Given the description of an element on the screen output the (x, y) to click on. 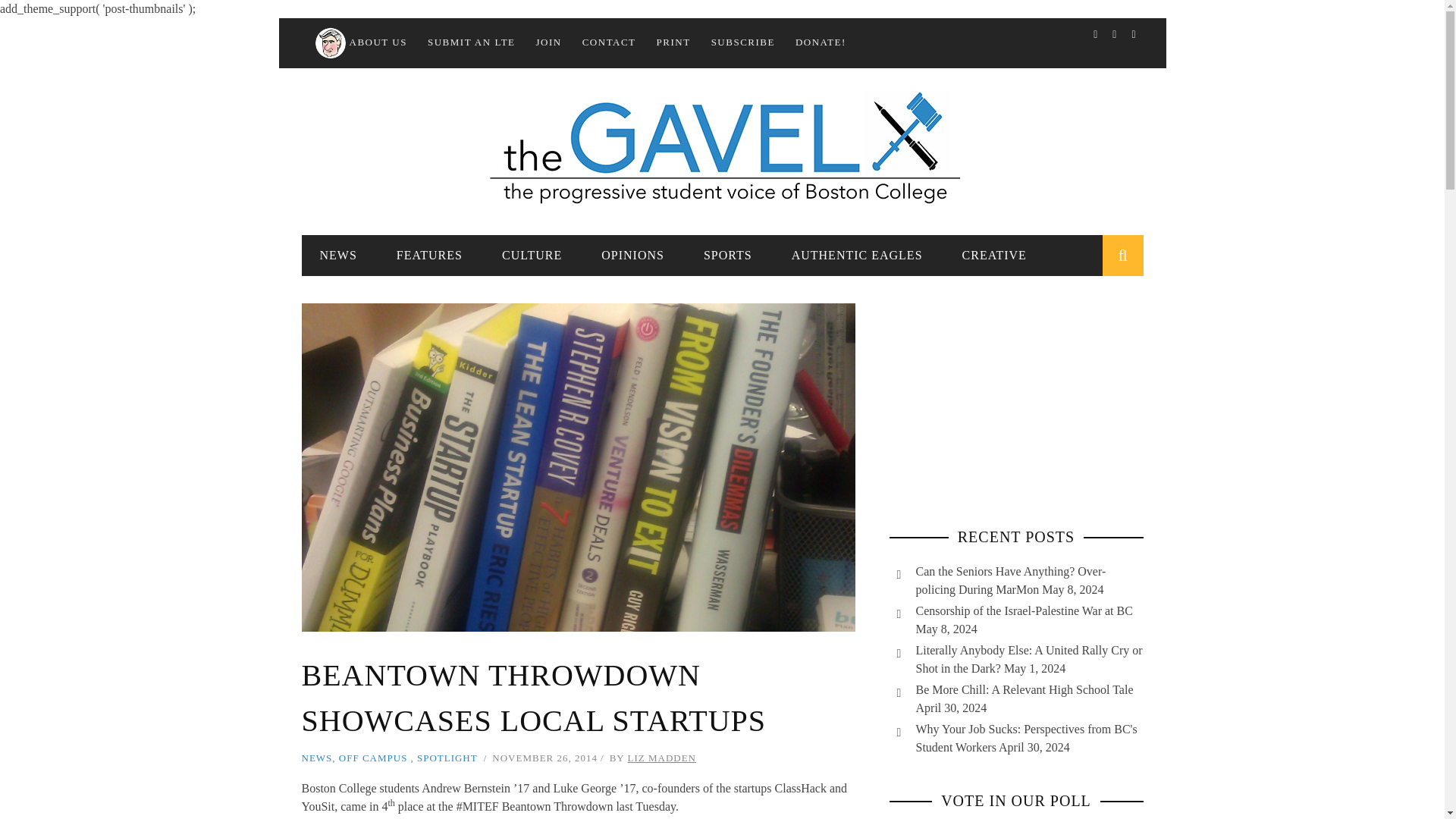
JOIN (548, 41)
ABOUT US (360, 41)
SUBMIT AN LTE (471, 41)
Advertisement (1015, 398)
